Given the description of an element on the screen output the (x, y) to click on. 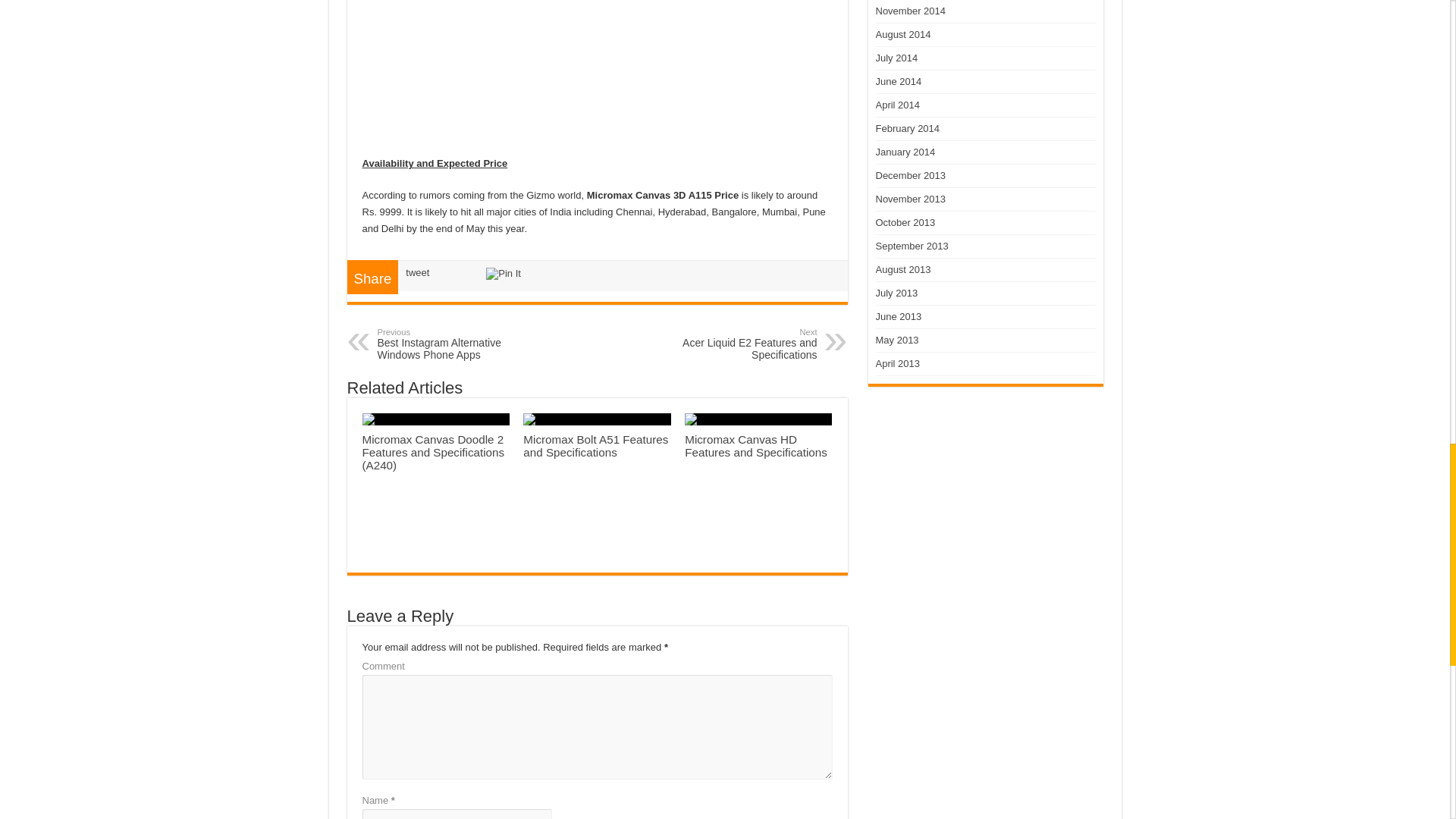
tweet (417, 272)
Pin It (503, 273)
